Given the description of an element on the screen output the (x, y) to click on. 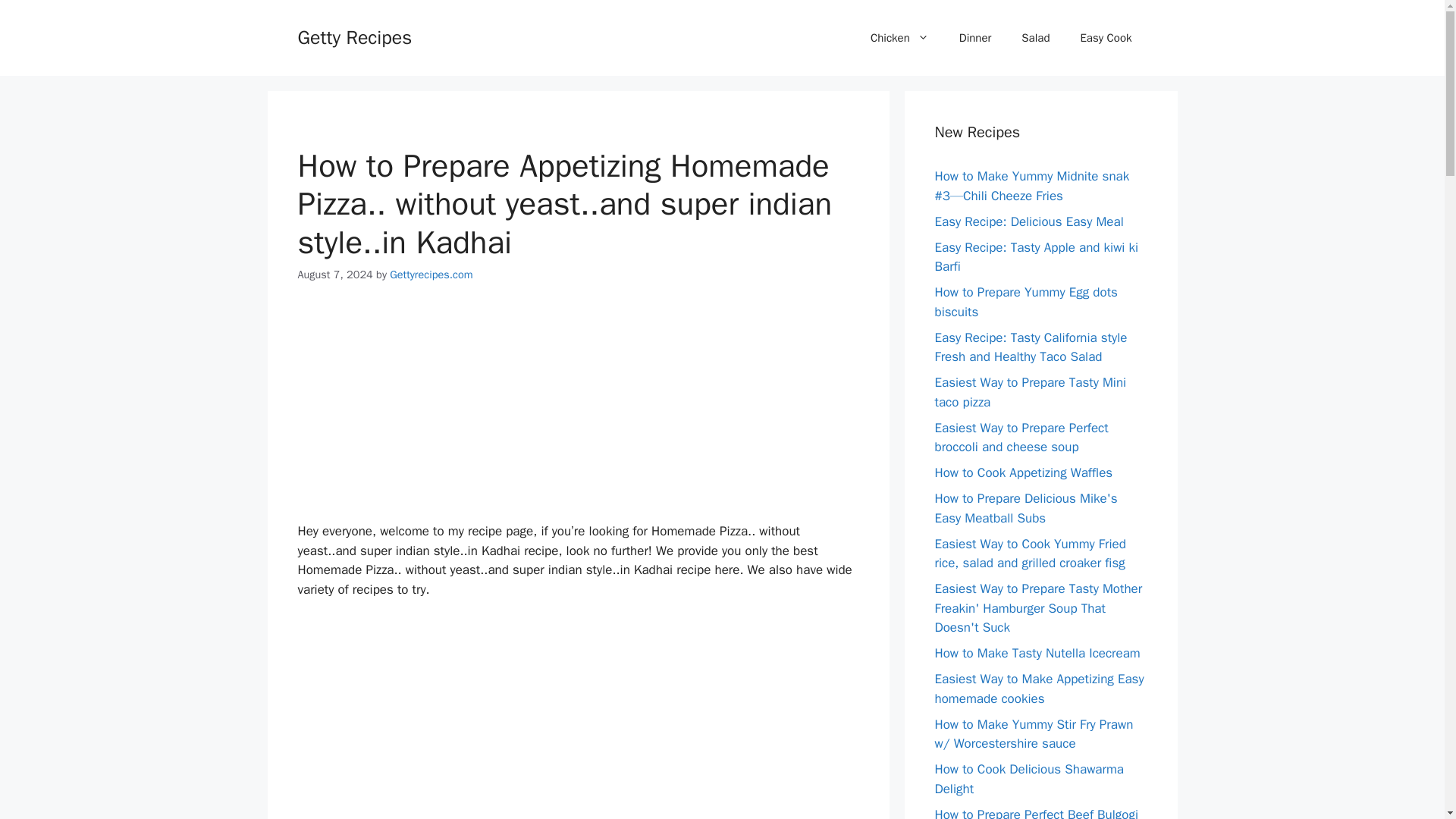
Dinner (975, 37)
How to Prepare Yummy Egg dots biscuits (1025, 302)
Salad (1035, 37)
Gettyrecipes.com (430, 274)
Advertisement (578, 719)
View all posts by Gettyrecipes.com (430, 274)
Easy Cook (1105, 37)
Getty Recipes (354, 37)
Advertisement (578, 415)
Chicken (899, 37)
